Given the description of an element on the screen output the (x, y) to click on. 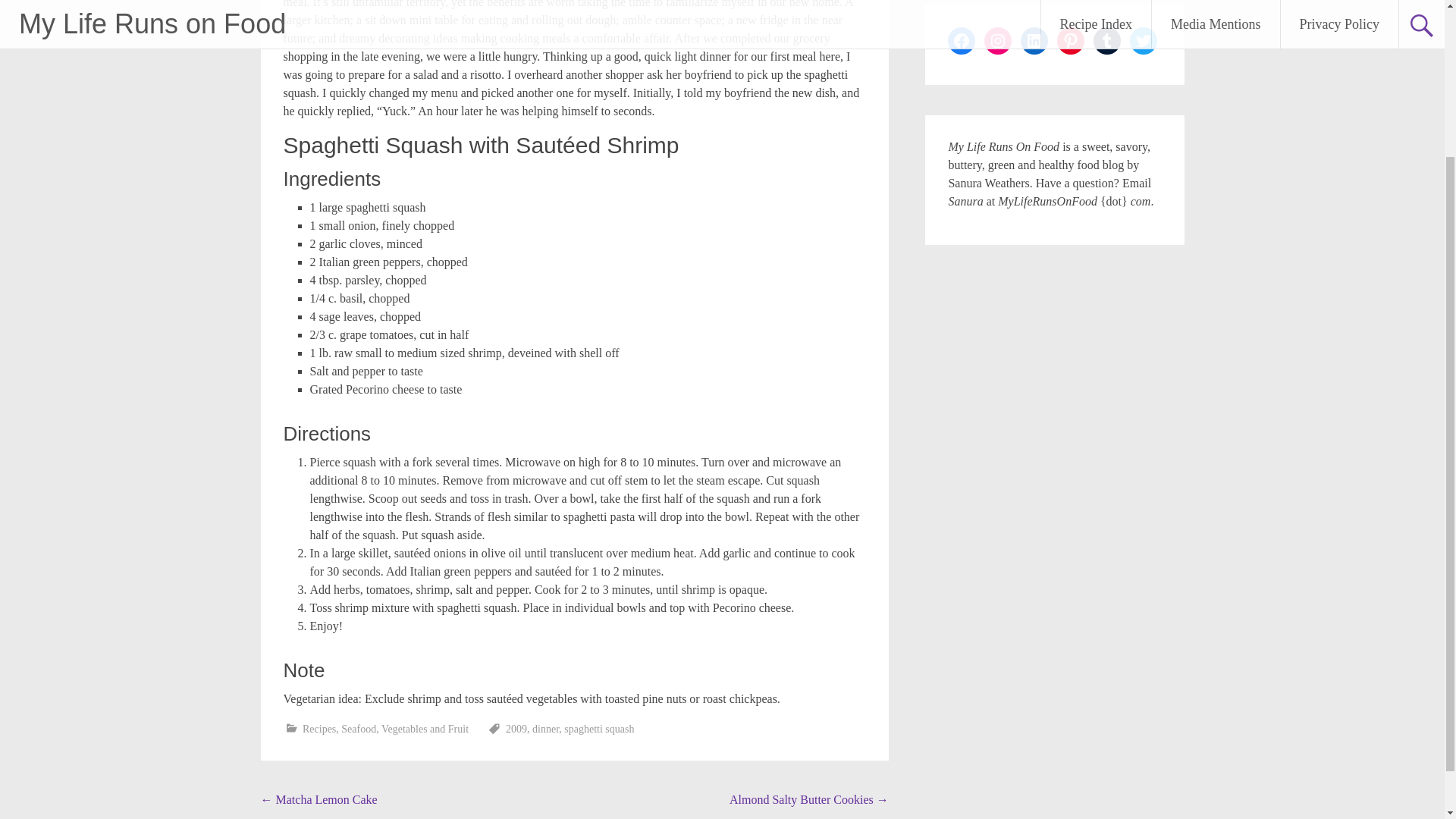
Twitter (1143, 40)
spaghetti squash (598, 728)
Tumblr (1107, 40)
Recipes (319, 728)
Facebook (961, 40)
2009 (516, 728)
Pinterest (1070, 40)
Instagram (997, 40)
Vegetables and Fruit (424, 728)
LinkedIn (1034, 40)
